Given the description of an element on the screen output the (x, y) to click on. 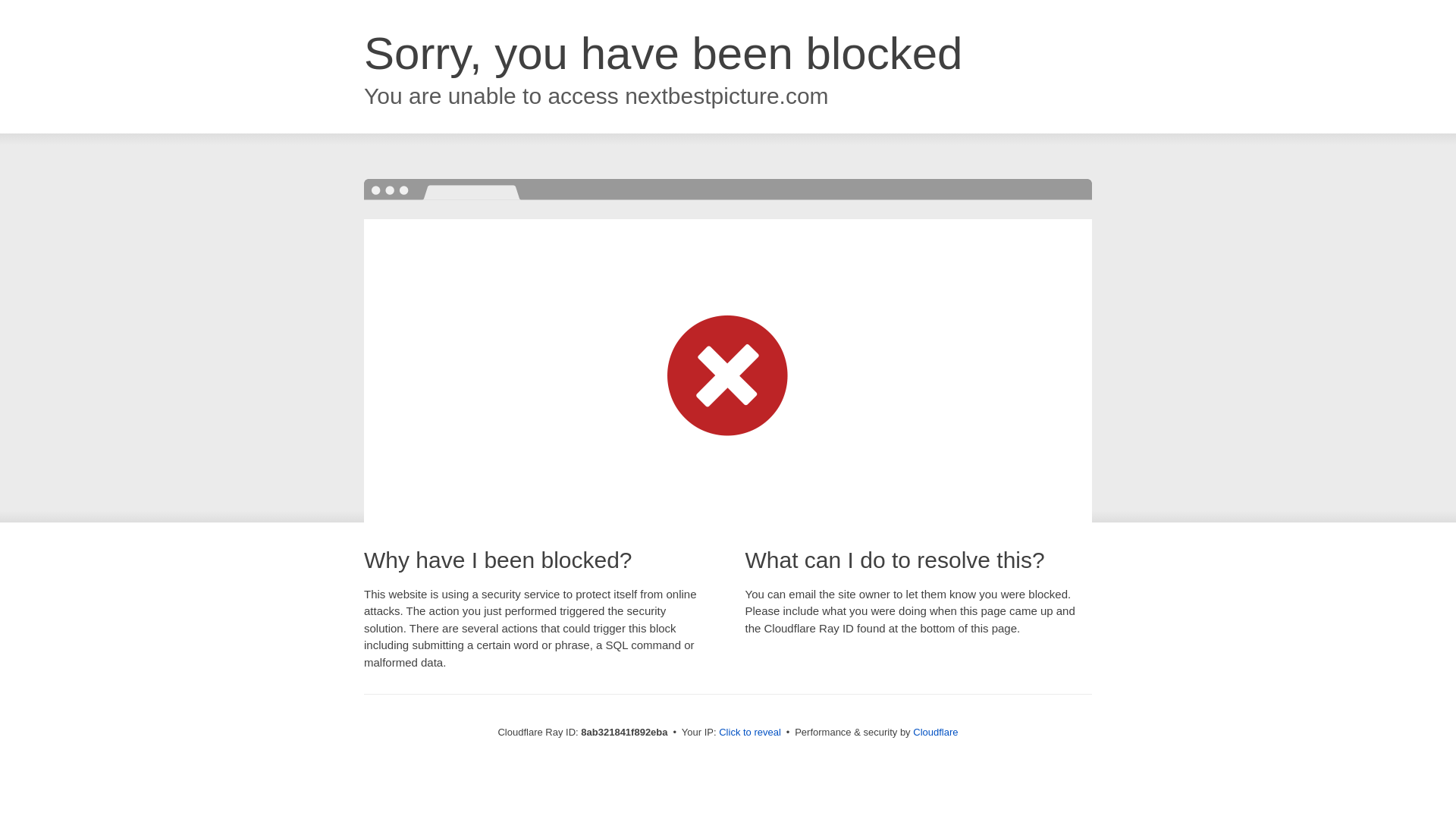
Click to reveal (749, 732)
Cloudflare (935, 731)
